Given the description of an element on the screen output the (x, y) to click on. 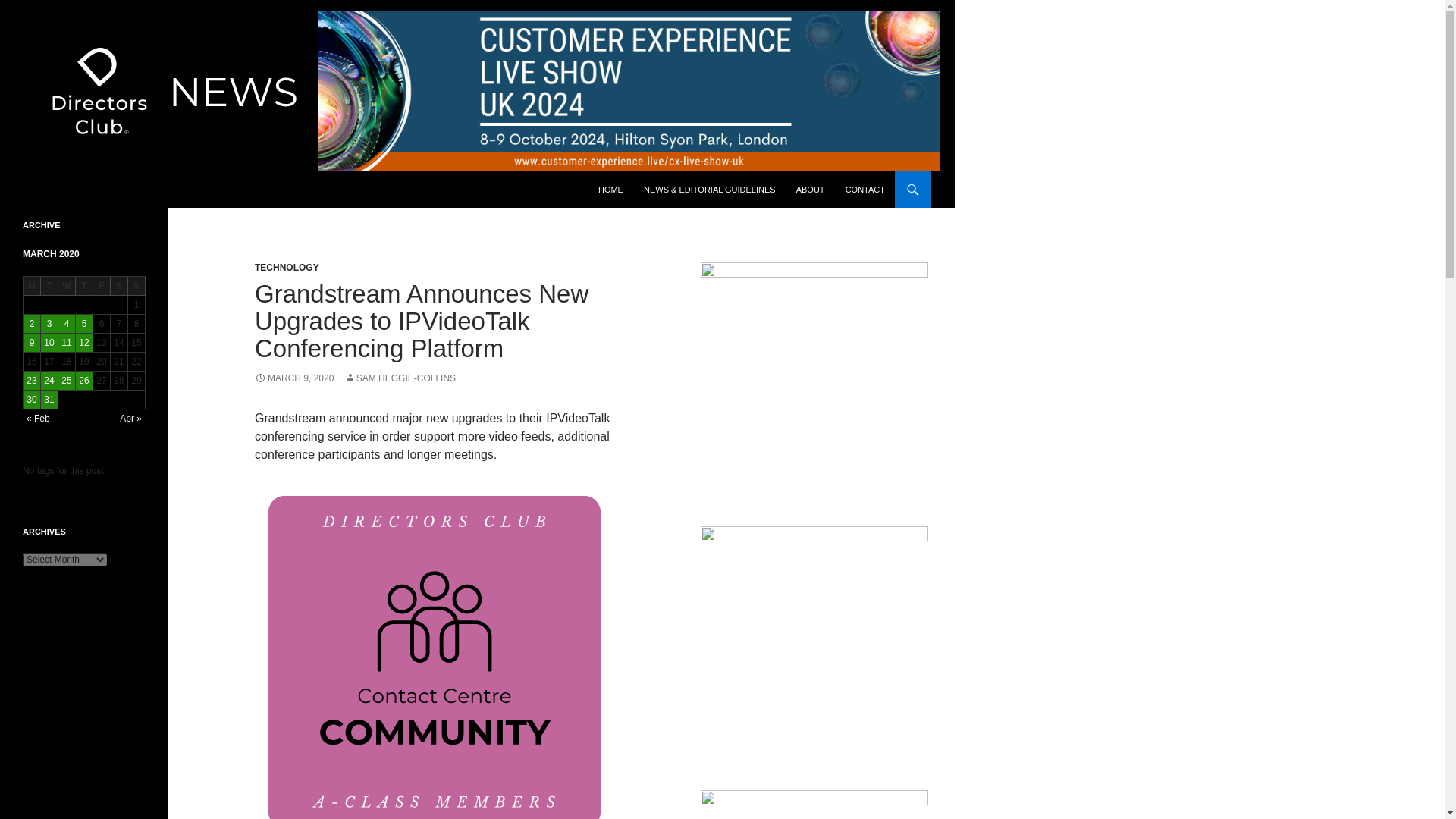
MARCH 9, 2020 (293, 378)
24 (49, 380)
12 (84, 342)
25 (66, 380)
30 (31, 399)
4 (66, 323)
Monday (31, 285)
10 (49, 342)
2 (31, 323)
